Given the description of an element on the screen output the (x, y) to click on. 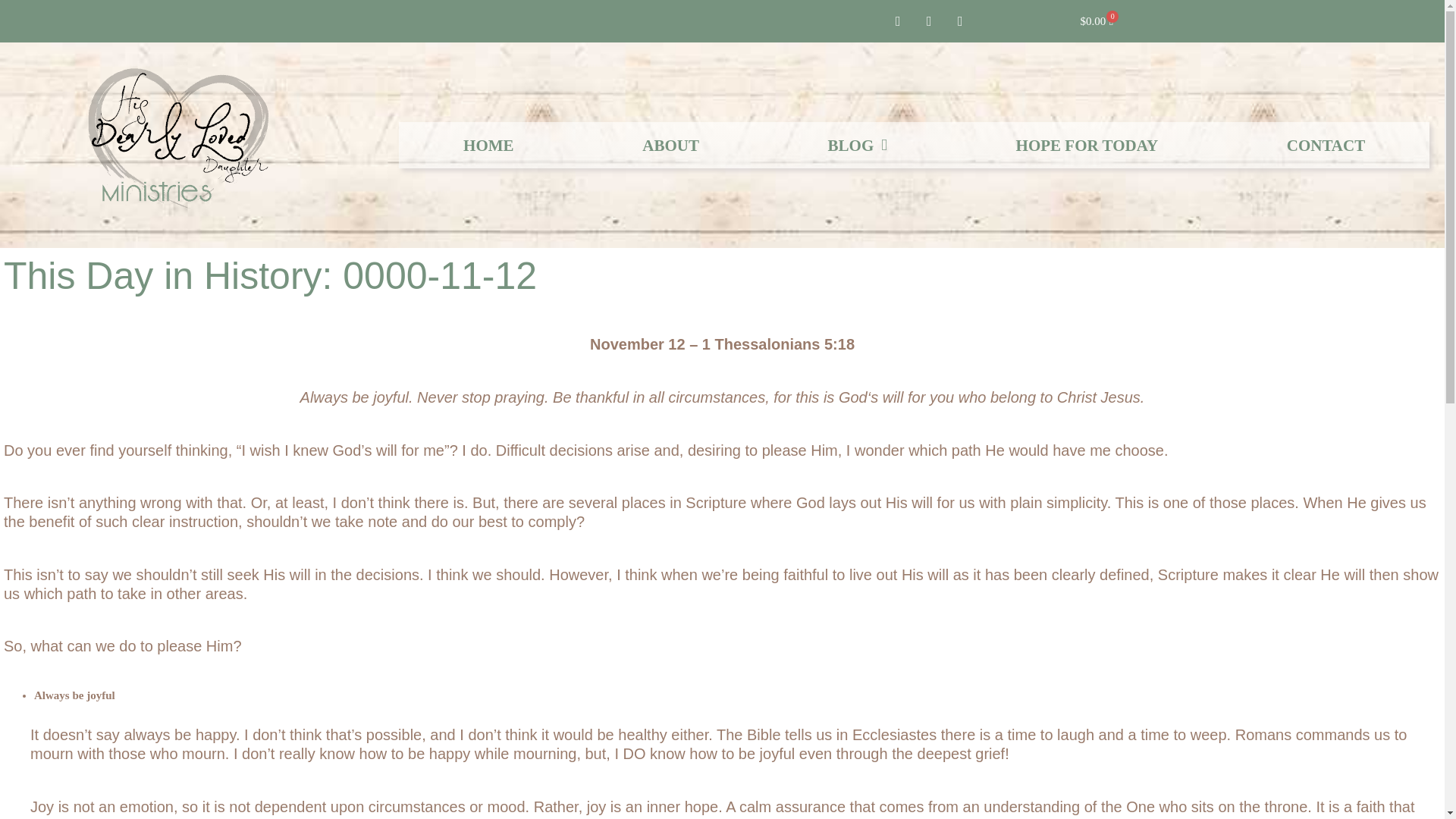
HOME (488, 145)
Instagram (960, 21)
Facebook-f (897, 21)
HOPE FOR TODAY (1087, 145)
CONTACT (1326, 145)
BLOG (857, 145)
Pinterest (928, 21)
ABOUT (670, 145)
